Given the description of an element on the screen output the (x, y) to click on. 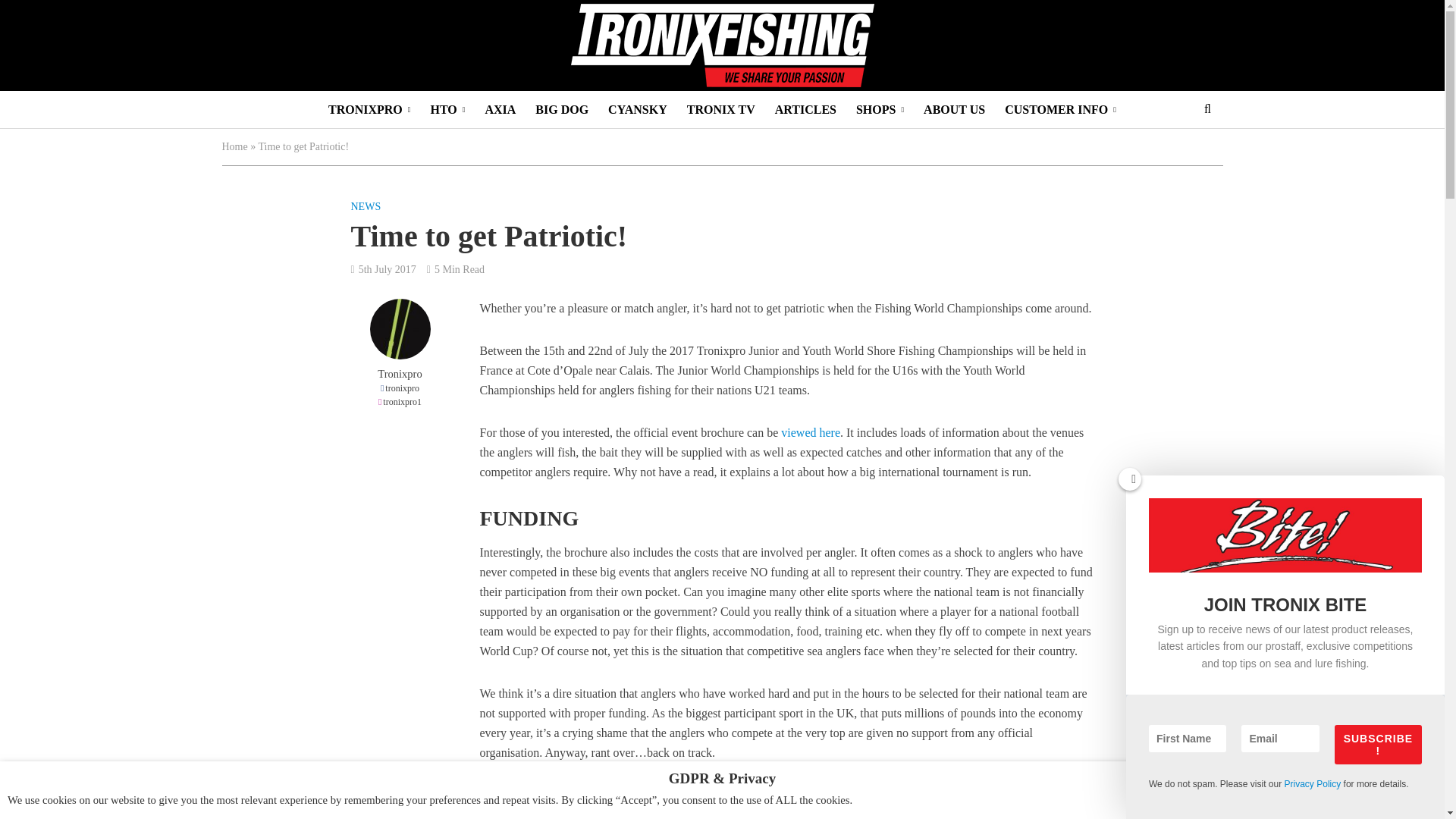
BIG DOG (561, 109)
HTO (447, 109)
CUSTOMER INFO (1059, 109)
SHOPS (879, 109)
AXIA (499, 109)
ARTICLES (805, 109)
TRONIXPRO (369, 109)
CYANSKY (637, 109)
TRONIX TV (721, 109)
ABOUT US (954, 109)
